Given the description of an element on the screen output the (x, y) to click on. 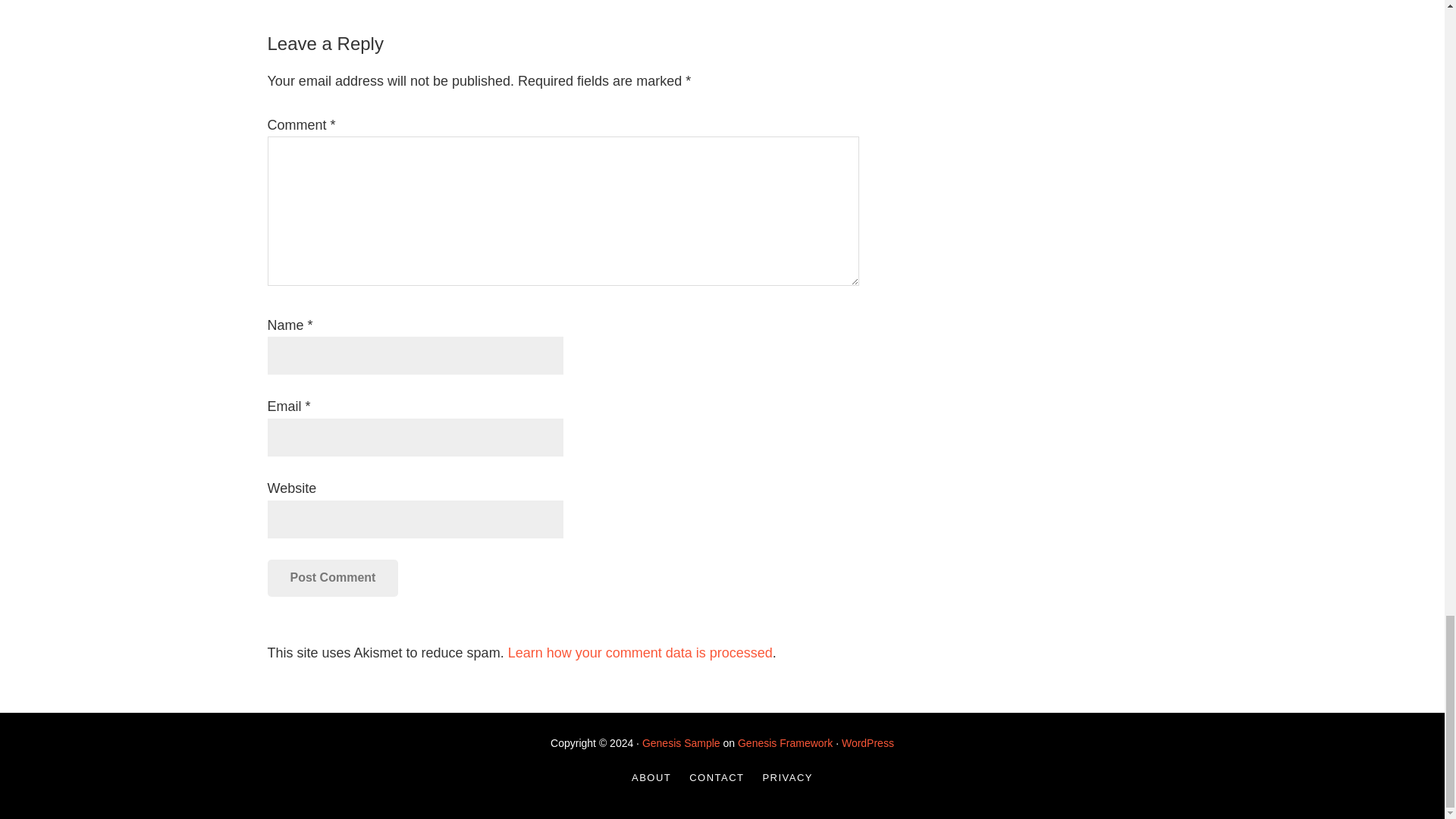
Learn how your comment data is processed (640, 652)
Post Comment (331, 577)
Post Comment (331, 577)
